Given the description of an element on the screen output the (x, y) to click on. 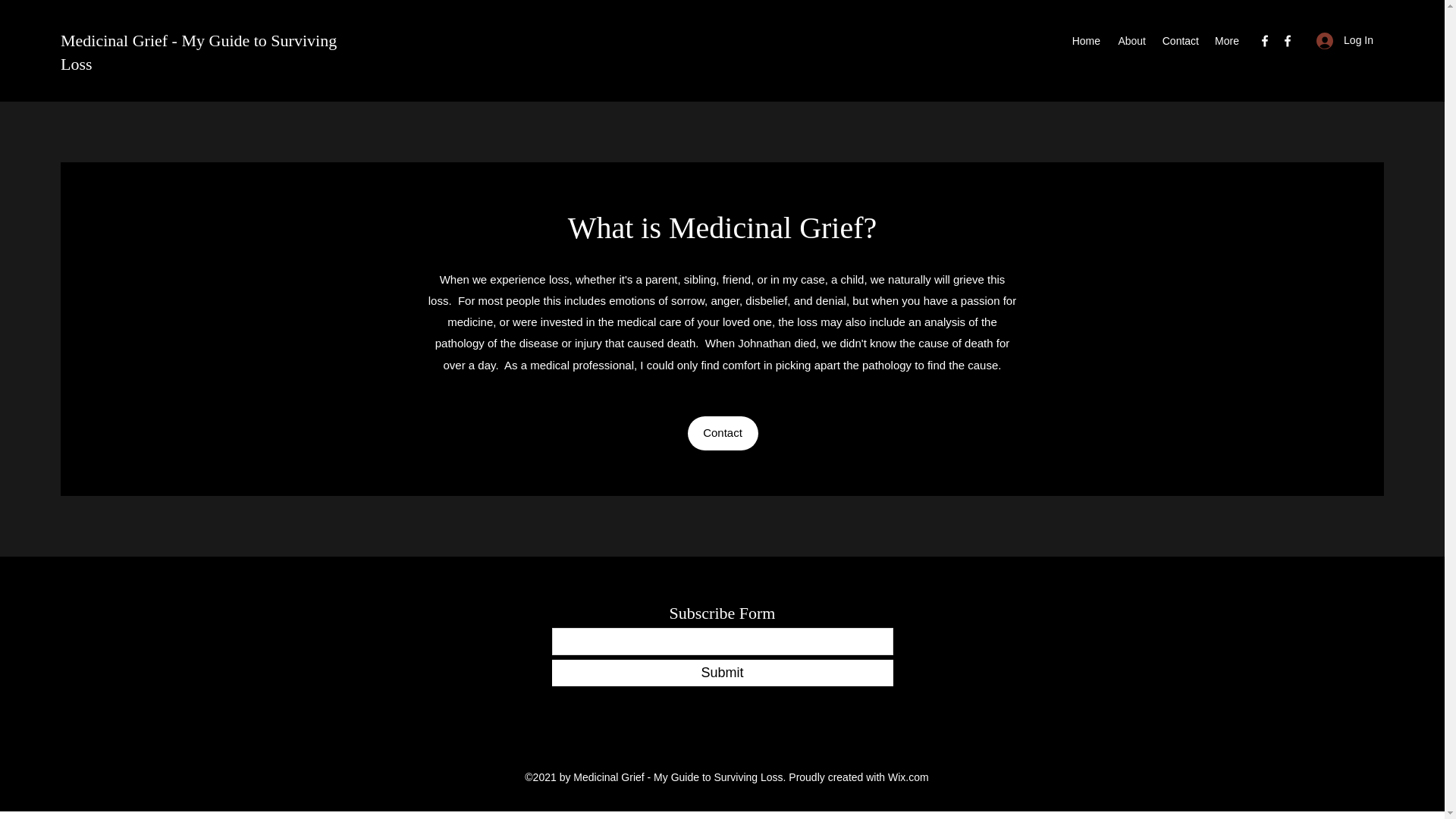
Home (1086, 40)
Contact (1180, 40)
Submit (722, 673)
Log In (1345, 40)
Medicinal Grief - My Guide to Surviving Loss (198, 52)
About (1130, 40)
Contact (722, 433)
